Given the description of an element on the screen output the (x, y) to click on. 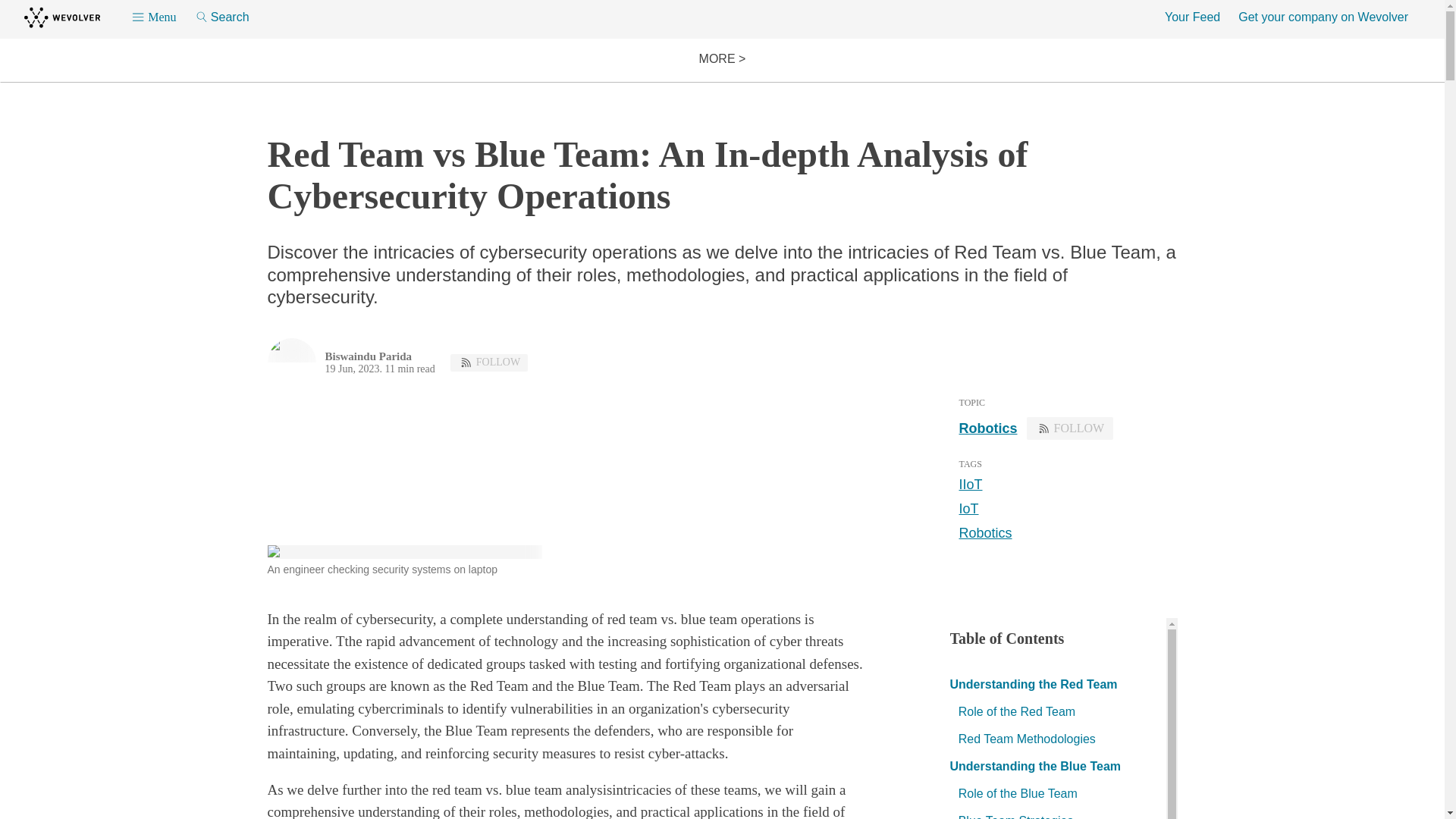
Menu (153, 17)
Blue Team Strategies (1016, 816)
Role of the Red Team (1016, 711)
IIoT (969, 484)
Understanding the Red Team (1032, 684)
Understanding the Blue Team (1035, 766)
Biswaindu Parida (368, 356)
Robotics (984, 532)
FOLLOW (488, 362)
Red Team Methodologies (1027, 739)
